Given the description of an element on the screen output the (x, y) to click on. 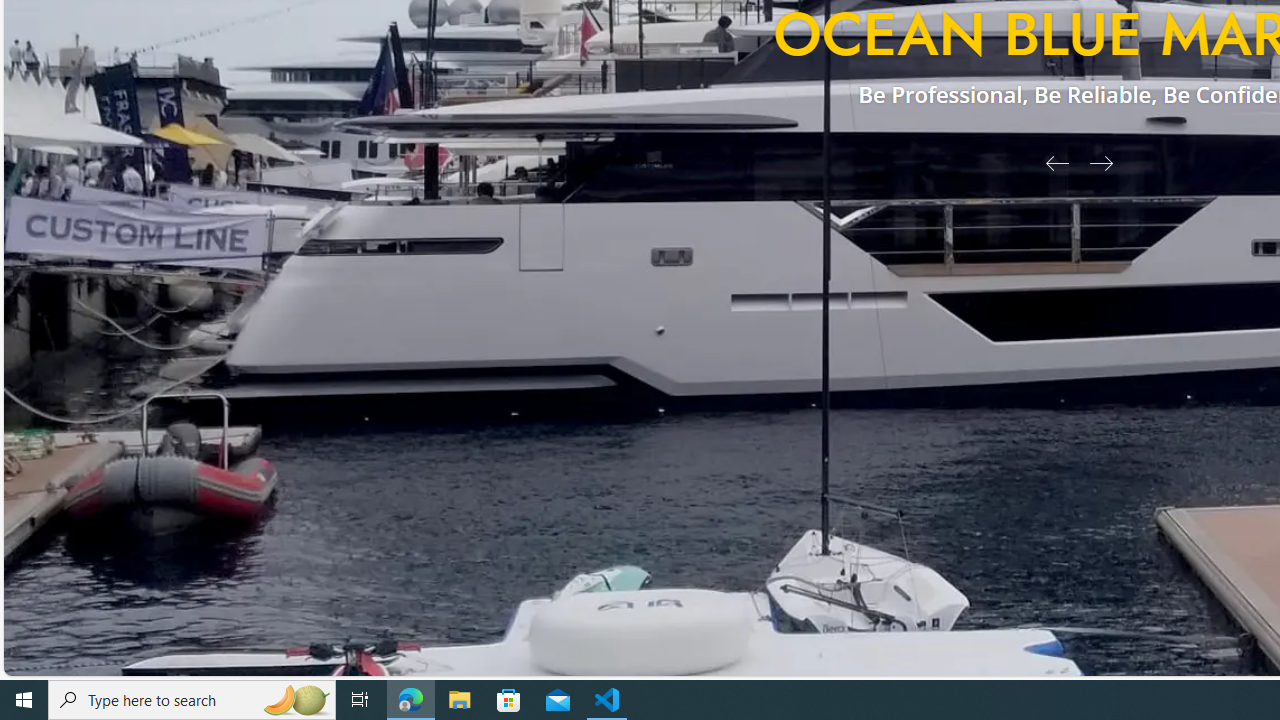
Next Slide (1108, 161)
Previous Slide (1050, 161)
